Given the description of an element on the screen output the (x, y) to click on. 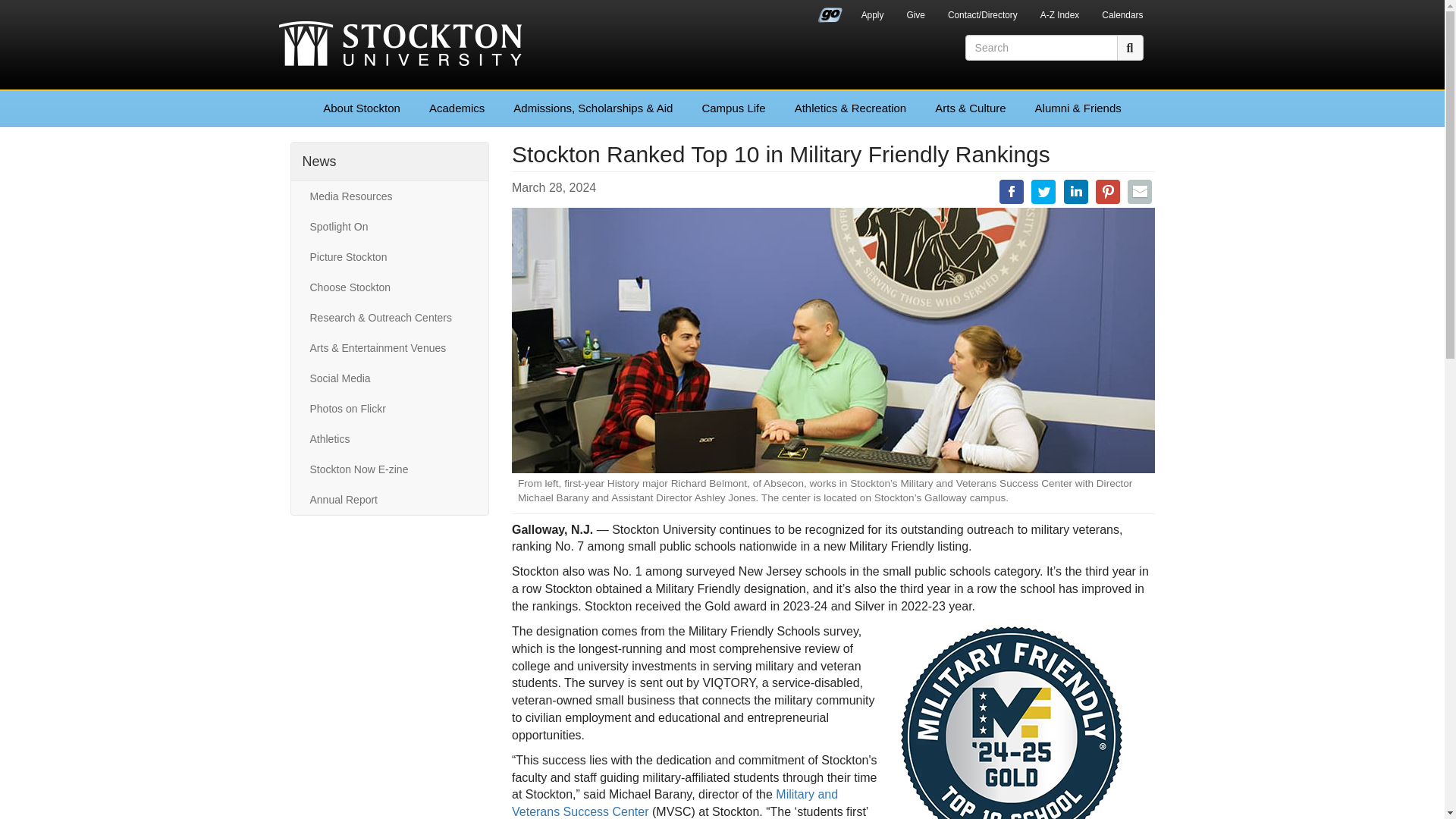
Calendars (1122, 17)
Search (1129, 47)
Academics (456, 108)
Stockton University (400, 45)
Annual Report (389, 499)
Social Media (389, 378)
Picture Stockton (389, 256)
Campus Life (732, 108)
Spotlight On (389, 226)
Stockton Now E-zine (389, 469)
